Given the description of an element on the screen output the (x, y) to click on. 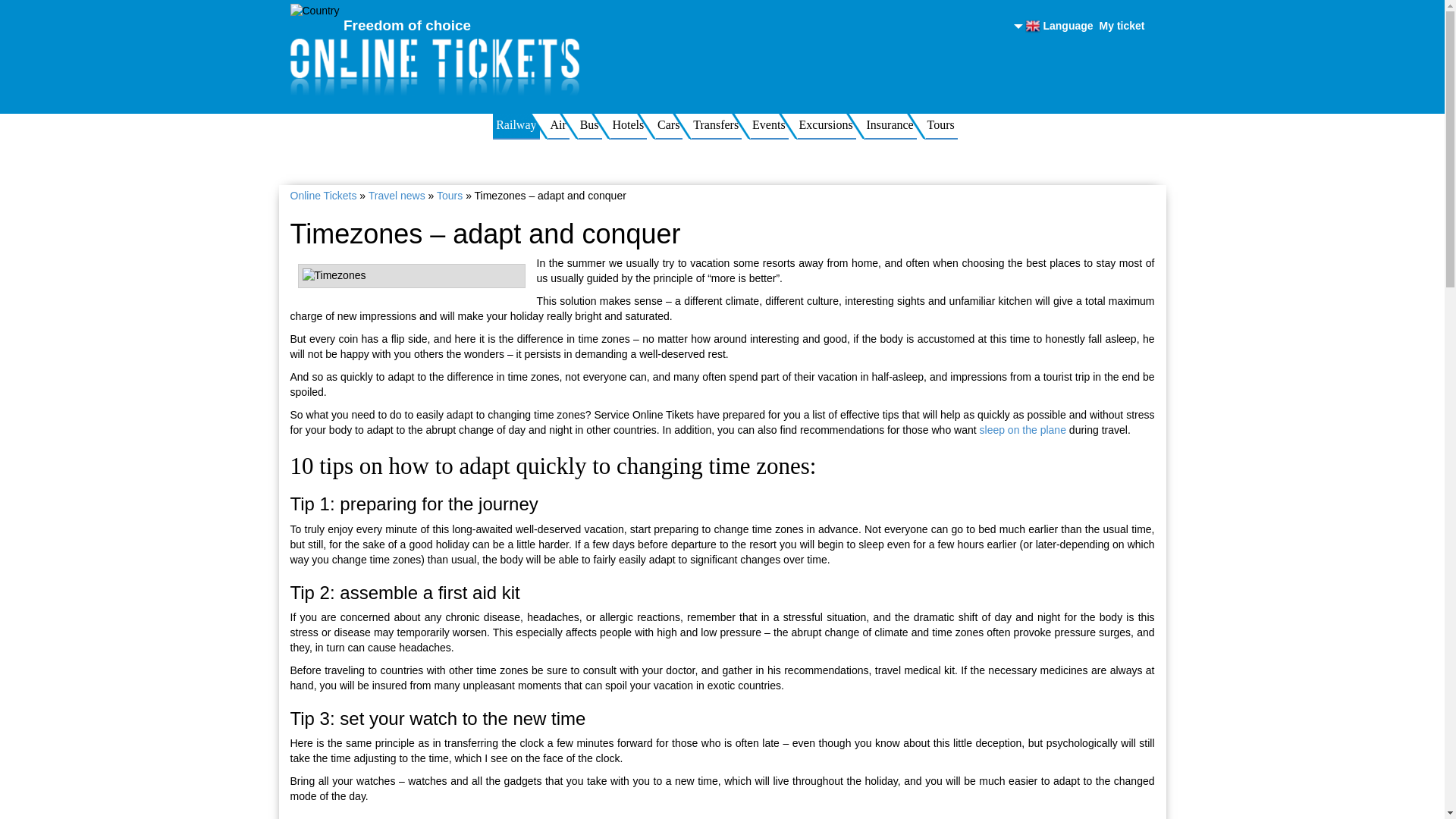
Events (769, 125)
Travel news (396, 195)
Bus (589, 125)
sleep on the plane (1022, 429)
My ticket (1121, 25)
Excursions (826, 125)
Insurance (889, 125)
Railway (515, 125)
Hotels (627, 125)
Tours (449, 195)
